Given the description of an element on the screen output the (x, y) to click on. 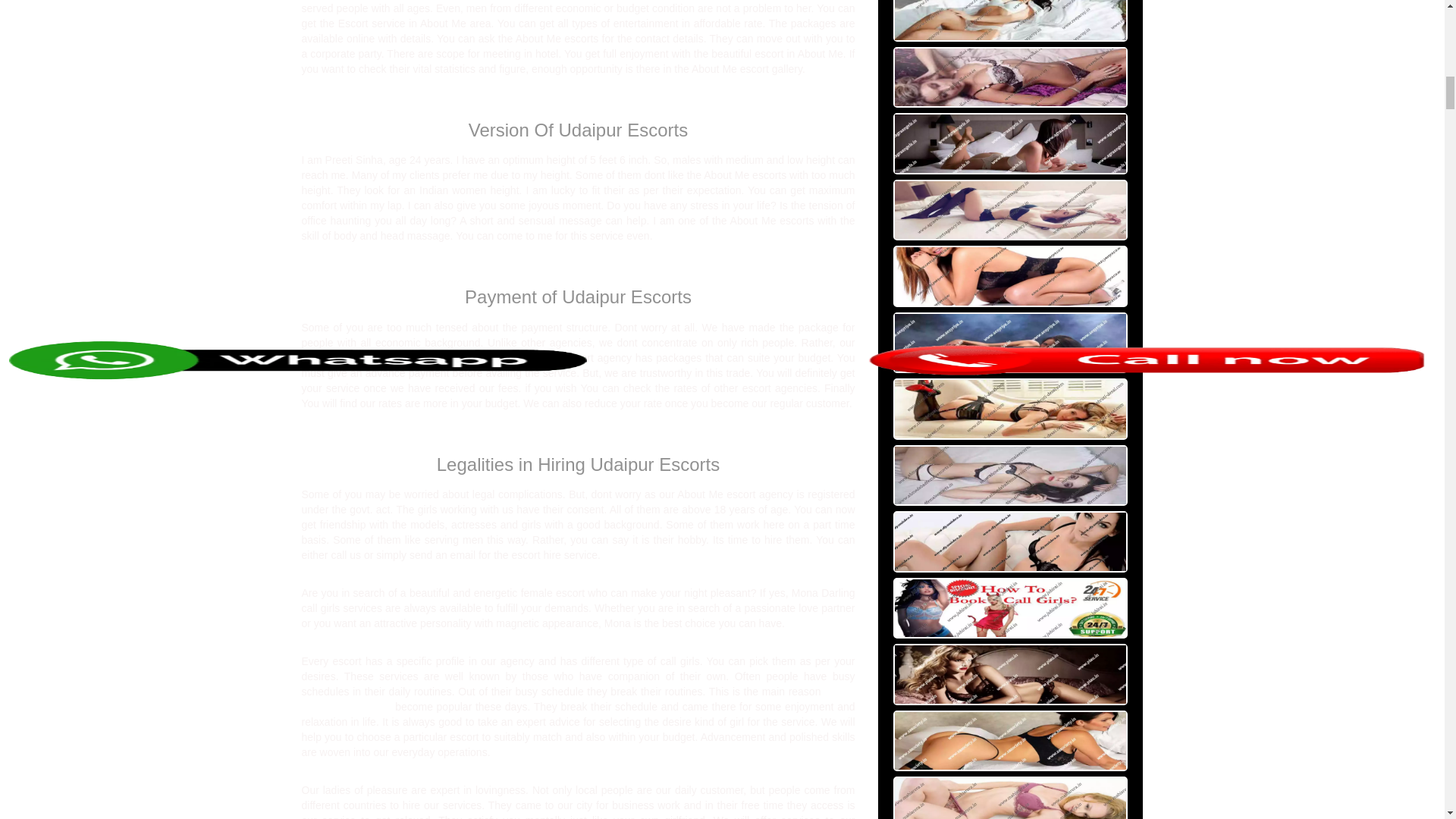
About Me escorts (344, 357)
About Me escort (344, 357)
About Me escort agency (578, 698)
Udaipur Escort Agency (578, 698)
